Given the description of an element on the screen output the (x, y) to click on. 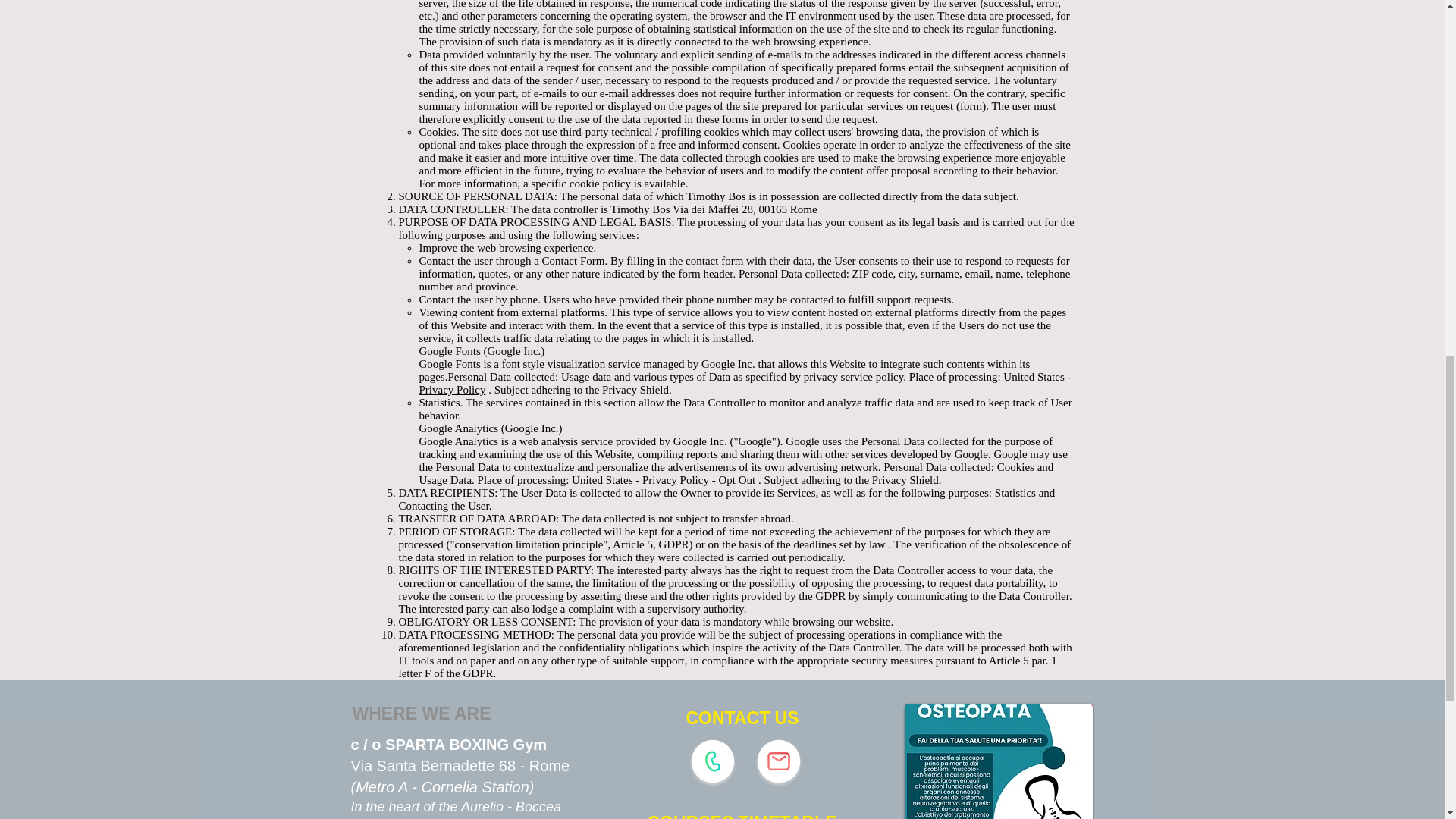
CONTACT US (742, 718)
Privacy Policy (675, 480)
Privacy Policy (451, 389)
Opt Out (736, 480)
WHERE WE ARE (421, 714)
